Given the description of an element on the screen output the (x, y) to click on. 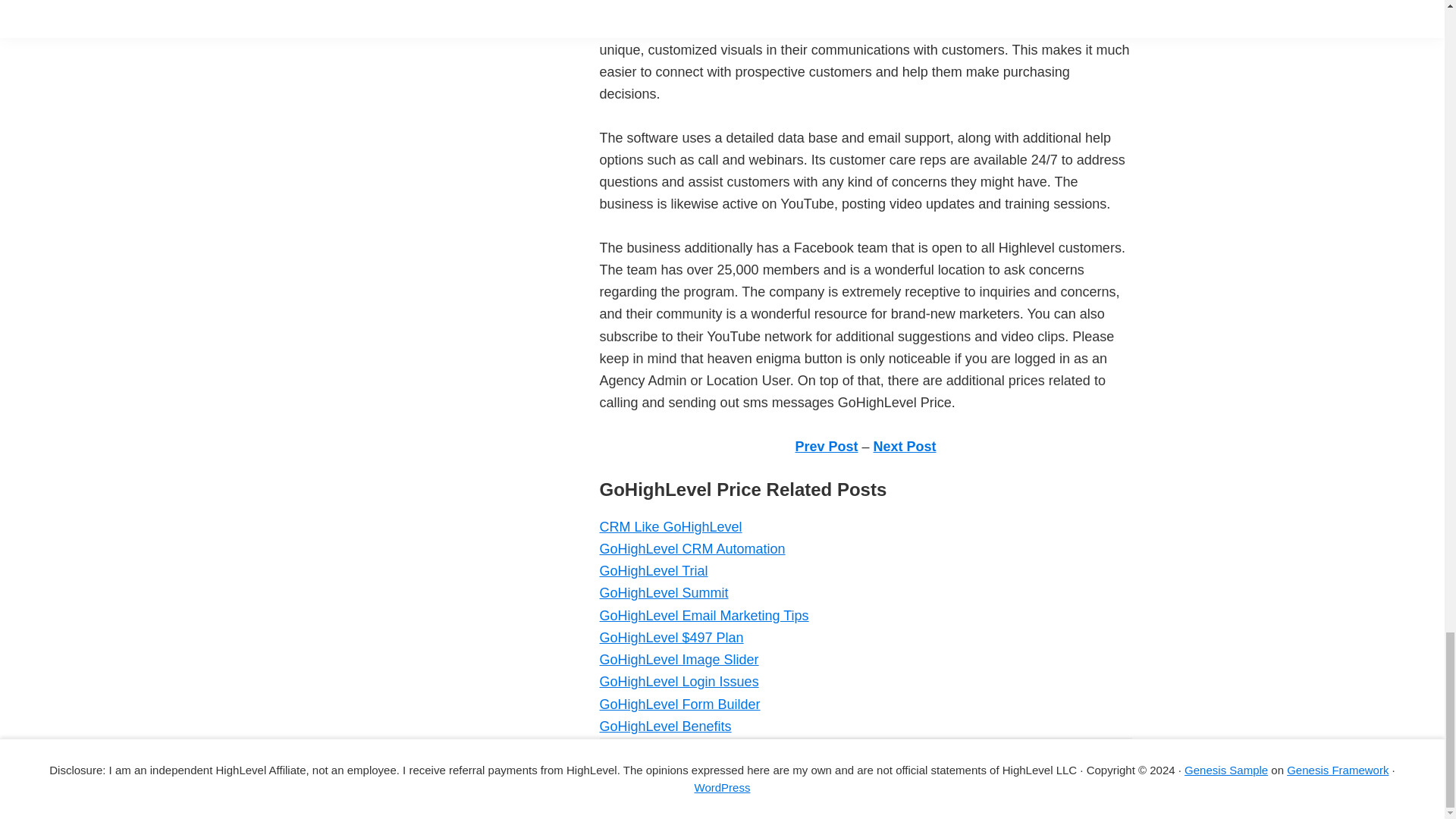
GoHighLevel Login Issues (678, 681)
GoHighLevel CRM Automation (691, 548)
CRM Like GoHighLevel (669, 526)
GoHighLevel Login Issues (678, 681)
GoHighLevel Summit (663, 592)
GoHighLevel Benefits (664, 726)
GoHighLevel Form Builder (679, 703)
GoHighLevel Summit (663, 592)
Next Post (904, 446)
GoHighLevel Trial (652, 570)
